Given the description of an element on the screen output the (x, y) to click on. 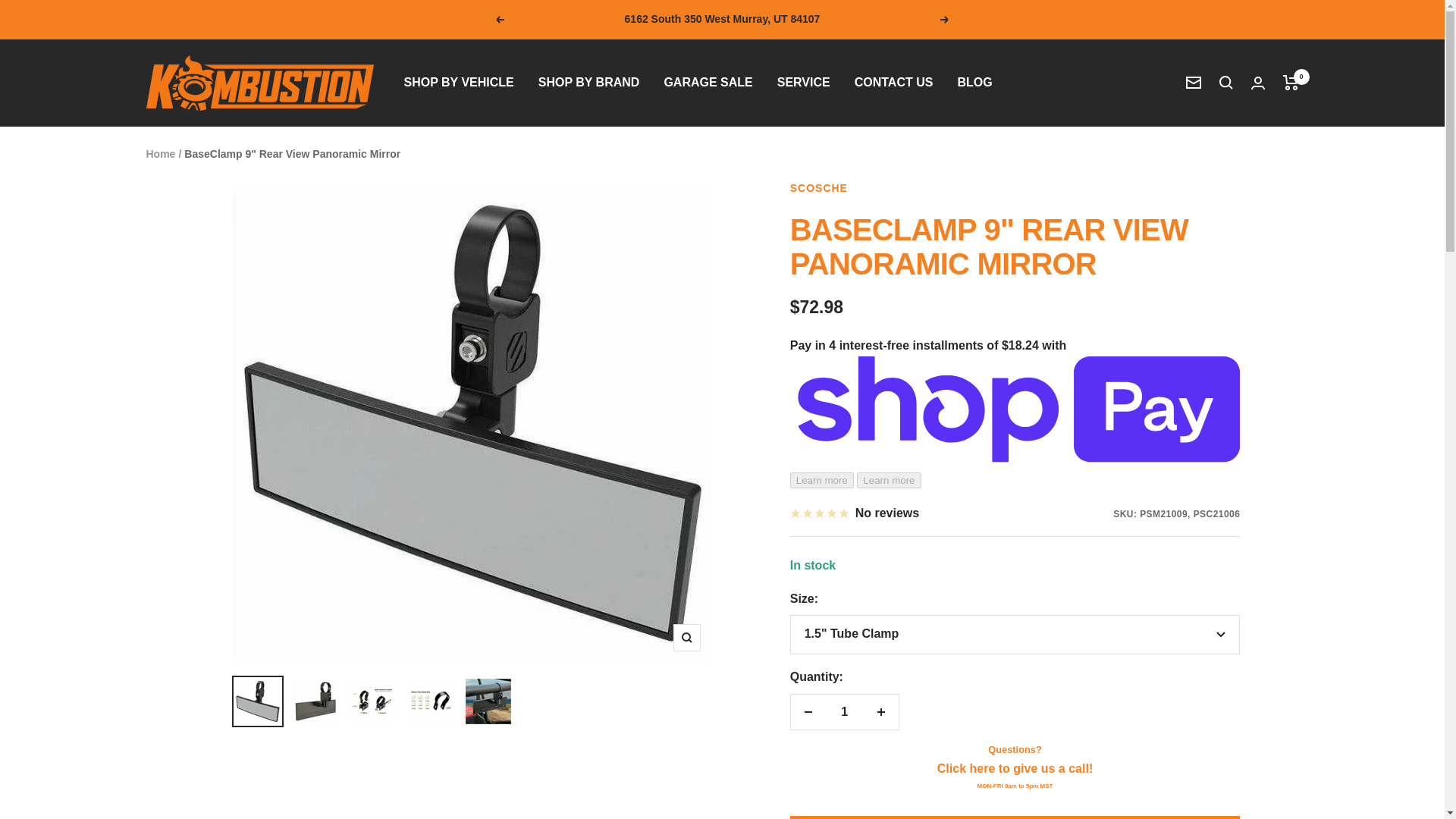
SCOSCHE (818, 187)
SHOP BY VEHICLE (458, 82)
CONTACT US (893, 82)
Kombustion Motorsports (258, 82)
Next (944, 19)
BLOG (973, 82)
1 (844, 711)
Home (159, 153)
GARAGE SALE (707, 82)
0 (1290, 82)
Zoom (686, 637)
Previous (499, 19)
SHOP BY BRAND (589, 82)
SERVICE (803, 82)
Newsletter (1193, 82)
